Given the description of an element on the screen output the (x, y) to click on. 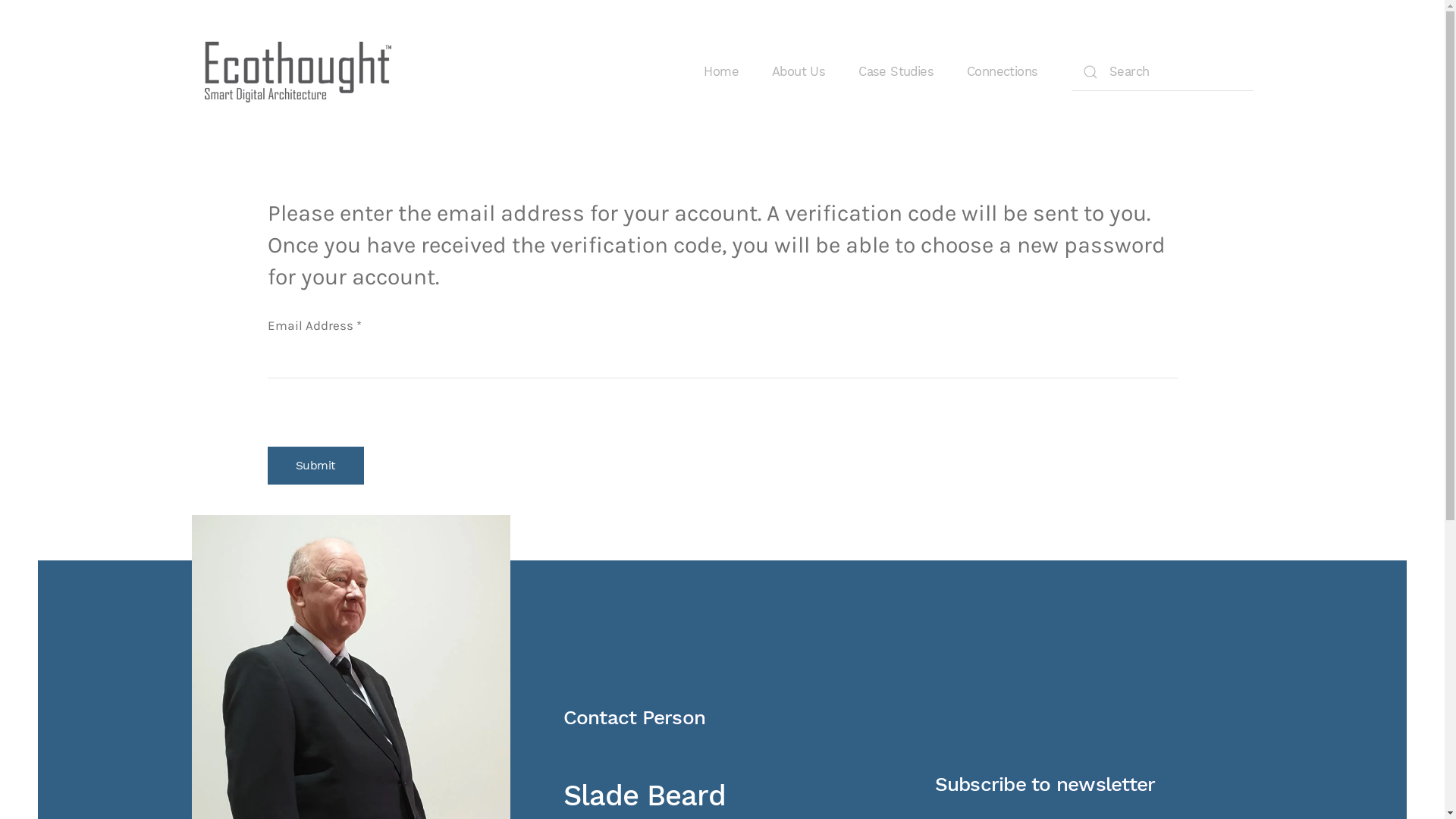
Connections Element type: text (1001, 71)
Home Element type: text (720, 71)
Submit Element type: text (314, 465)
Case Studies Element type: text (895, 71)
Slade Beard Element type: text (643, 794)
About Us Element type: text (798, 71)
